Given the description of an element on the screen output the (x, y) to click on. 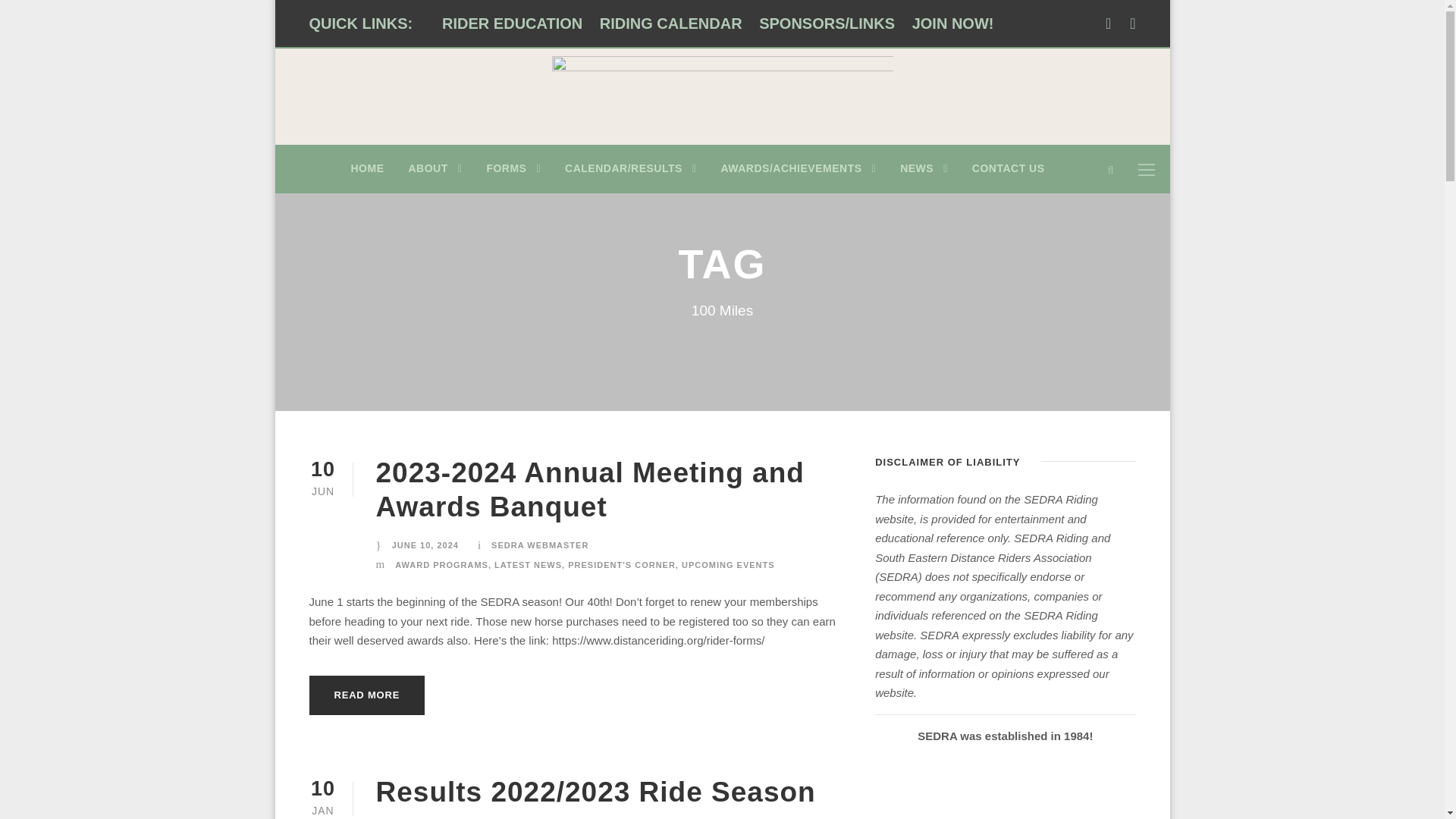
JOIN NOW! (953, 23)
facebook (1107, 23)
RIDING CALENDAR (670, 23)
rss (1132, 23)
RIDER EDUCATION (512, 23)
Posts by SEDRA Webmaster (540, 544)
